Given the description of an element on the screen output the (x, y) to click on. 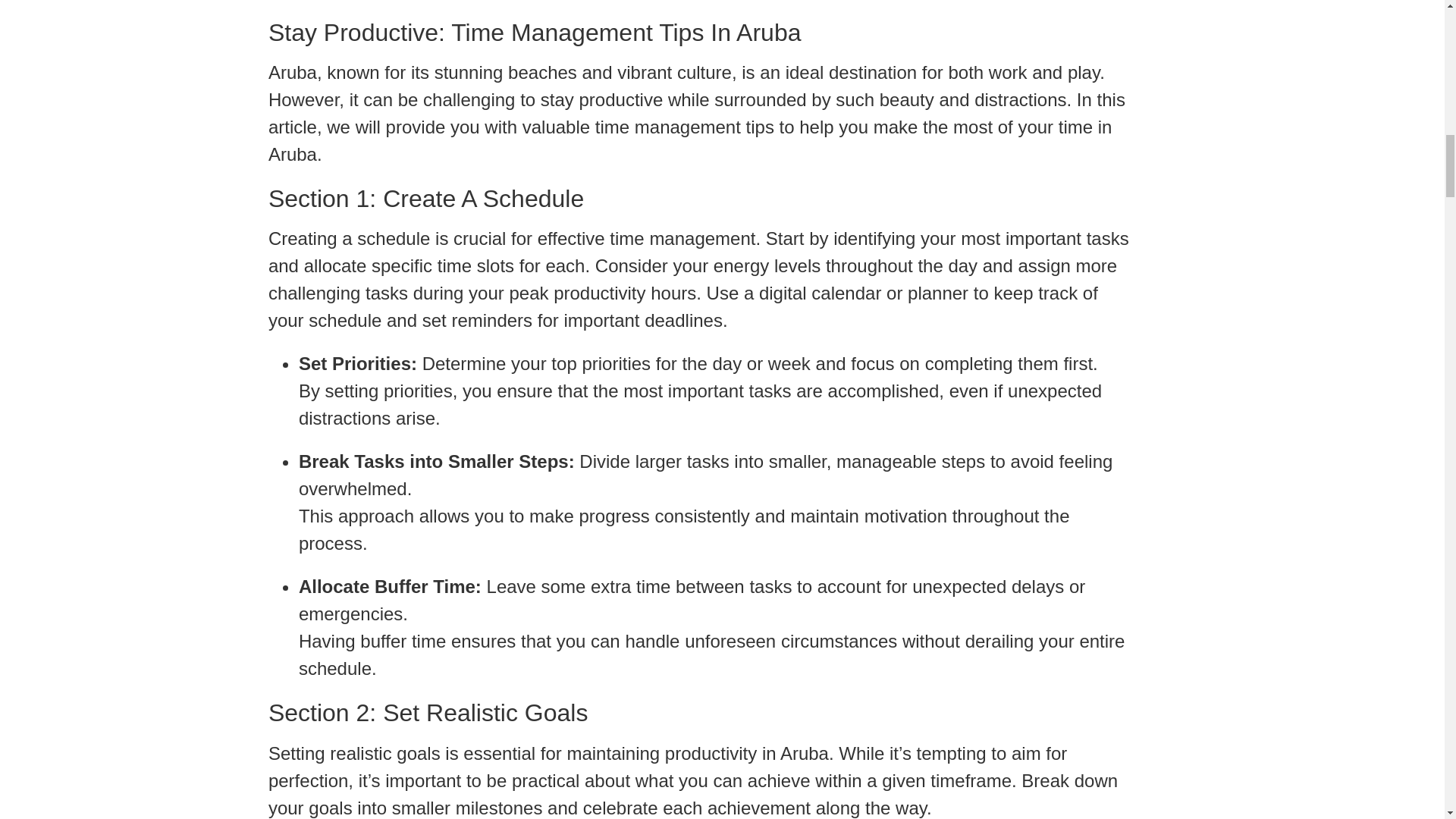
Section 1: Create a Schedule (699, 198)
Stay Productive: Time Management Tips in Aruba (699, 32)
Section 2: Set Realistic Goals (699, 712)
